Given the description of an element on the screen output the (x, y) to click on. 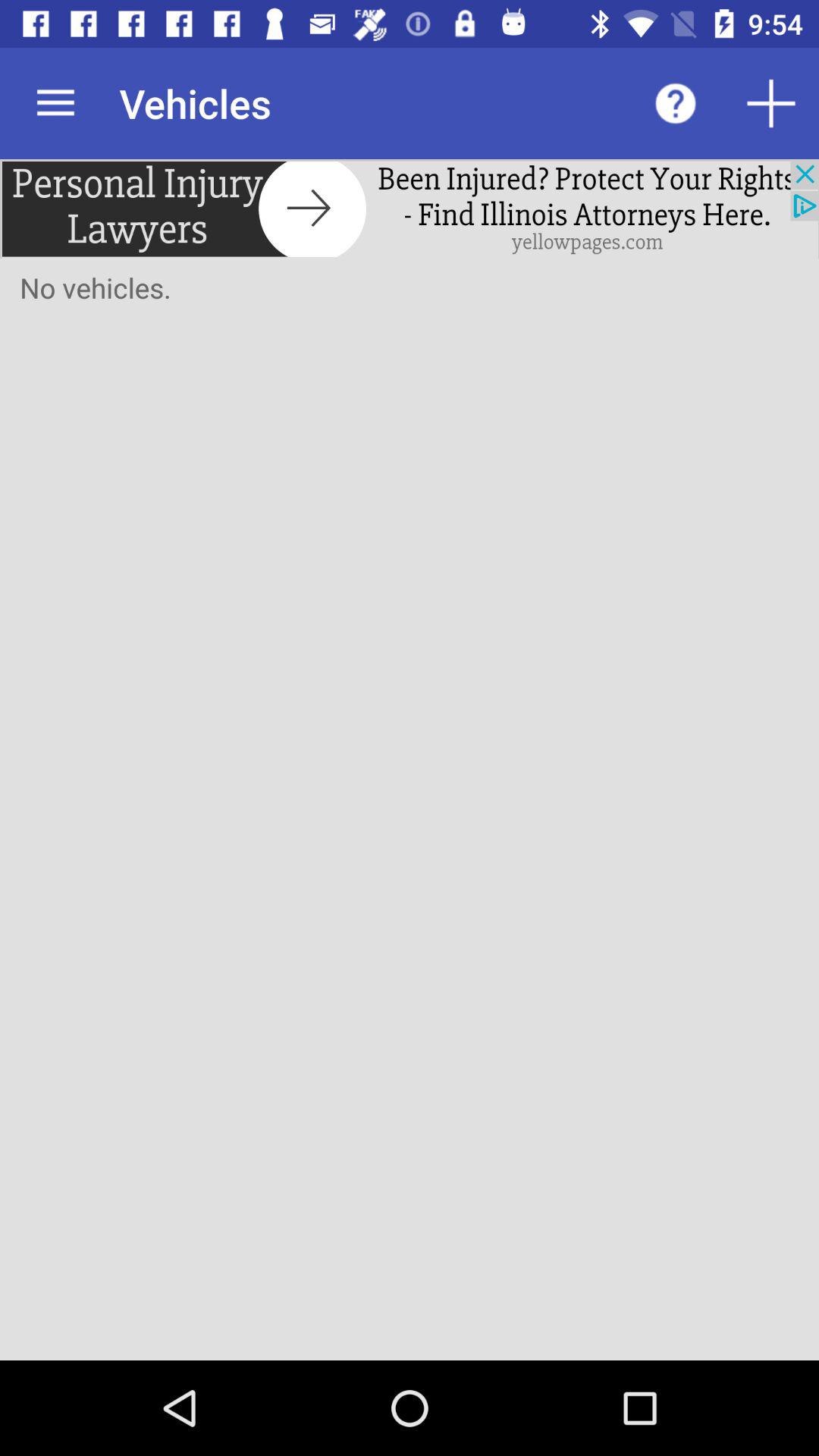
open help menu (675, 103)
